Given the description of an element on the screen output the (x, y) to click on. 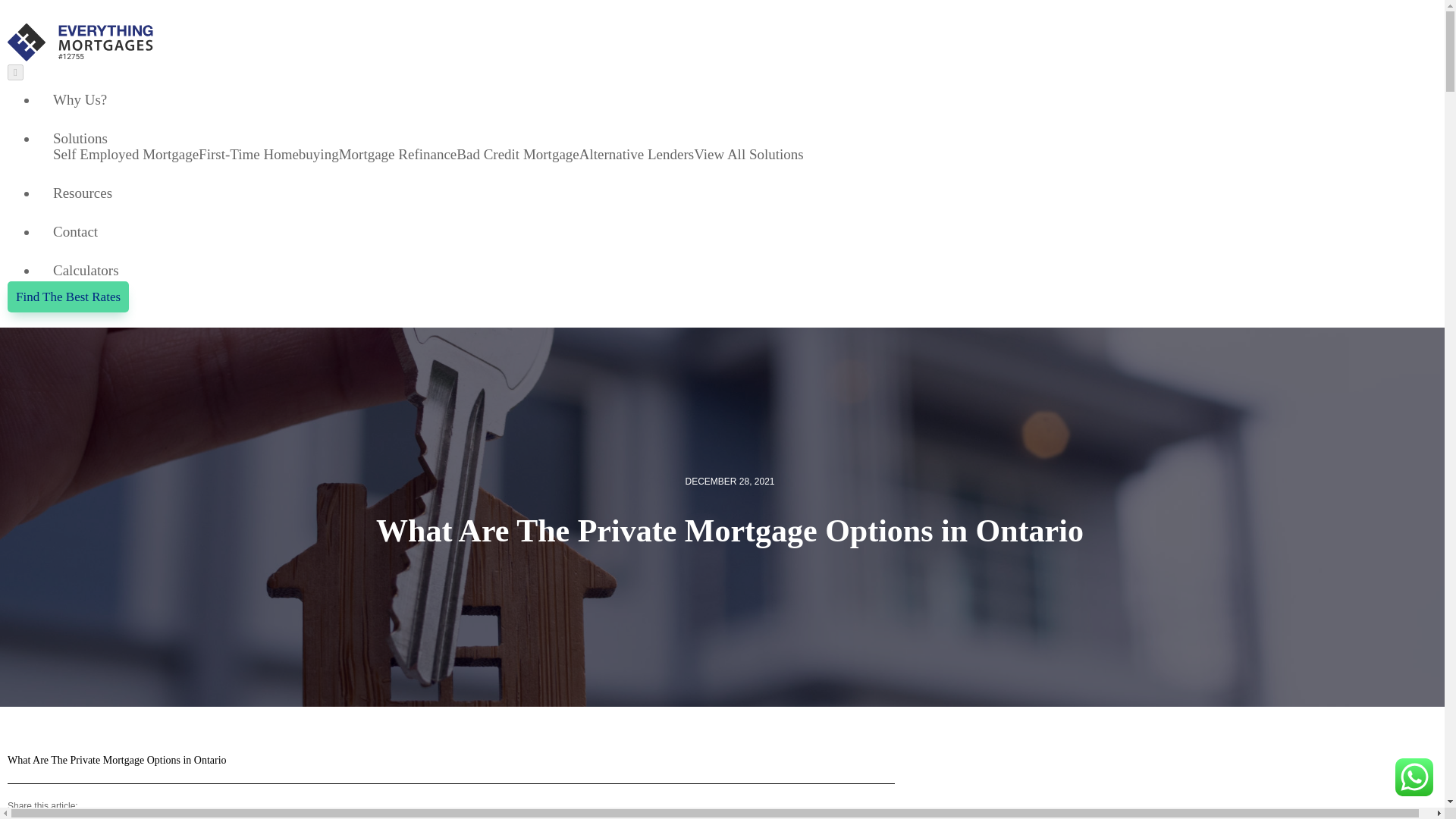
View All Solutions (748, 154)
Resources (82, 192)
Alternative Lenders (636, 154)
Why Us? (79, 99)
Mortgage Refinance (398, 154)
Solutions (79, 138)
First-Time Homebuying (268, 154)
Contact (74, 231)
Self Employed Mortgage (125, 154)
Find The Best Rates (68, 296)
Bad Credit Mortgage (517, 154)
Calculators (85, 270)
